Given the description of an element on the screen output the (x, y) to click on. 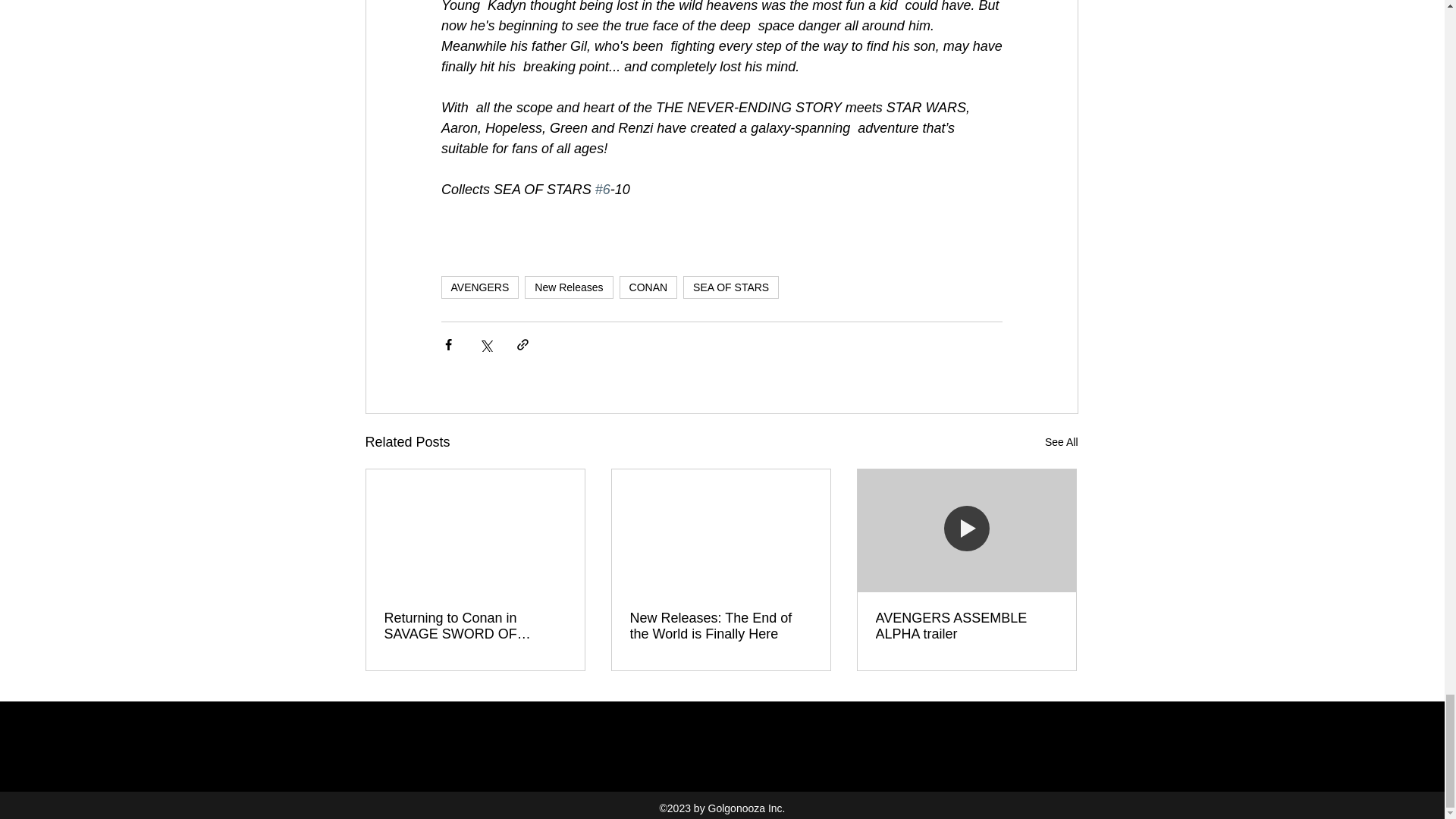
New Releases: The End of the World is Finally Here (719, 626)
SEA OF STARS (730, 287)
See All (1061, 442)
AVENGERS (480, 287)
CONAN (649, 287)
Returning to Conan in SAVAGE SWORD OF CONAN (475, 626)
New Releases (568, 287)
AVENGERS ASSEMBLE ALPHA trailer (966, 626)
